Given the description of an element on the screen output the (x, y) to click on. 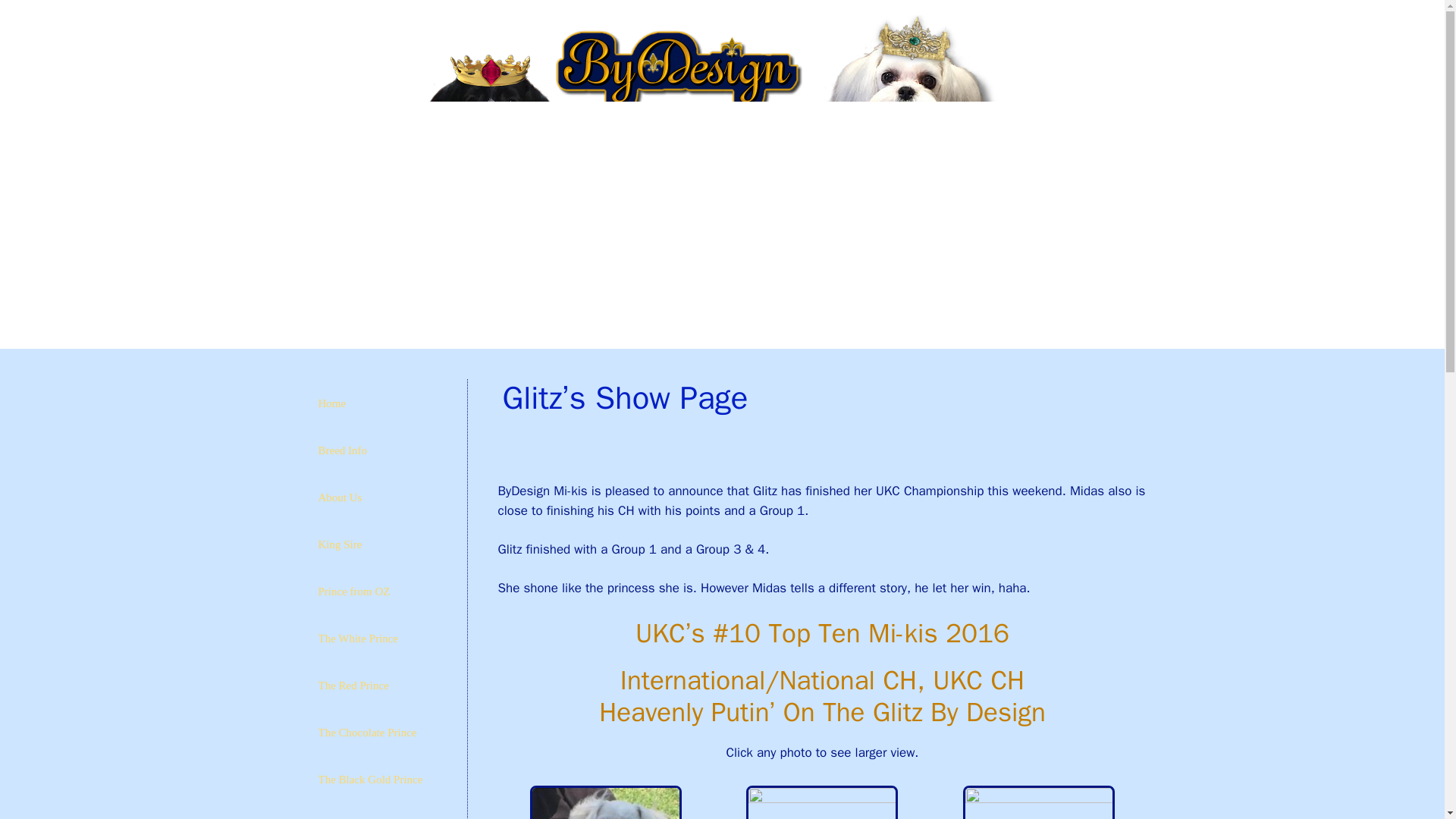
Prince from OZ (381, 591)
About Us (381, 497)
The Red Prince (381, 685)
The Chocolate Prince (381, 732)
The White Prince (381, 637)
King Sire (381, 544)
Home (381, 402)
The Black Gold Prince (381, 779)
Breed Info (381, 450)
Silver Black Knight (381, 811)
